Given the description of an element on the screen output the (x, y) to click on. 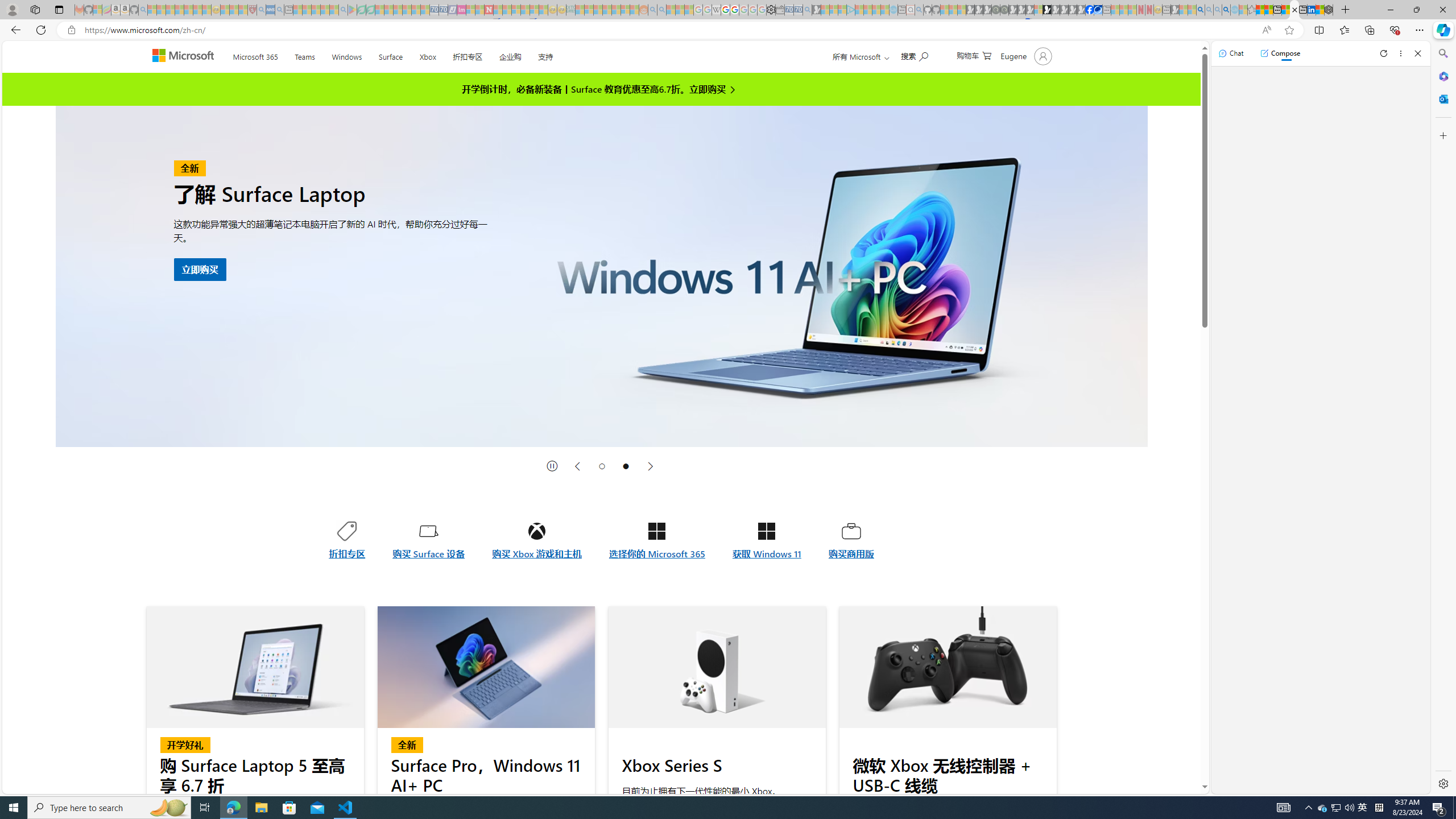
Pets - MSN - Sleeping (324, 9)
MSNBC - MSN - Sleeping (579, 9)
Xbox (427, 54)
Expert Portfolios - Sleeping (606, 9)
Windows (346, 54)
